Given the description of an element on the screen output the (x, y) to click on. 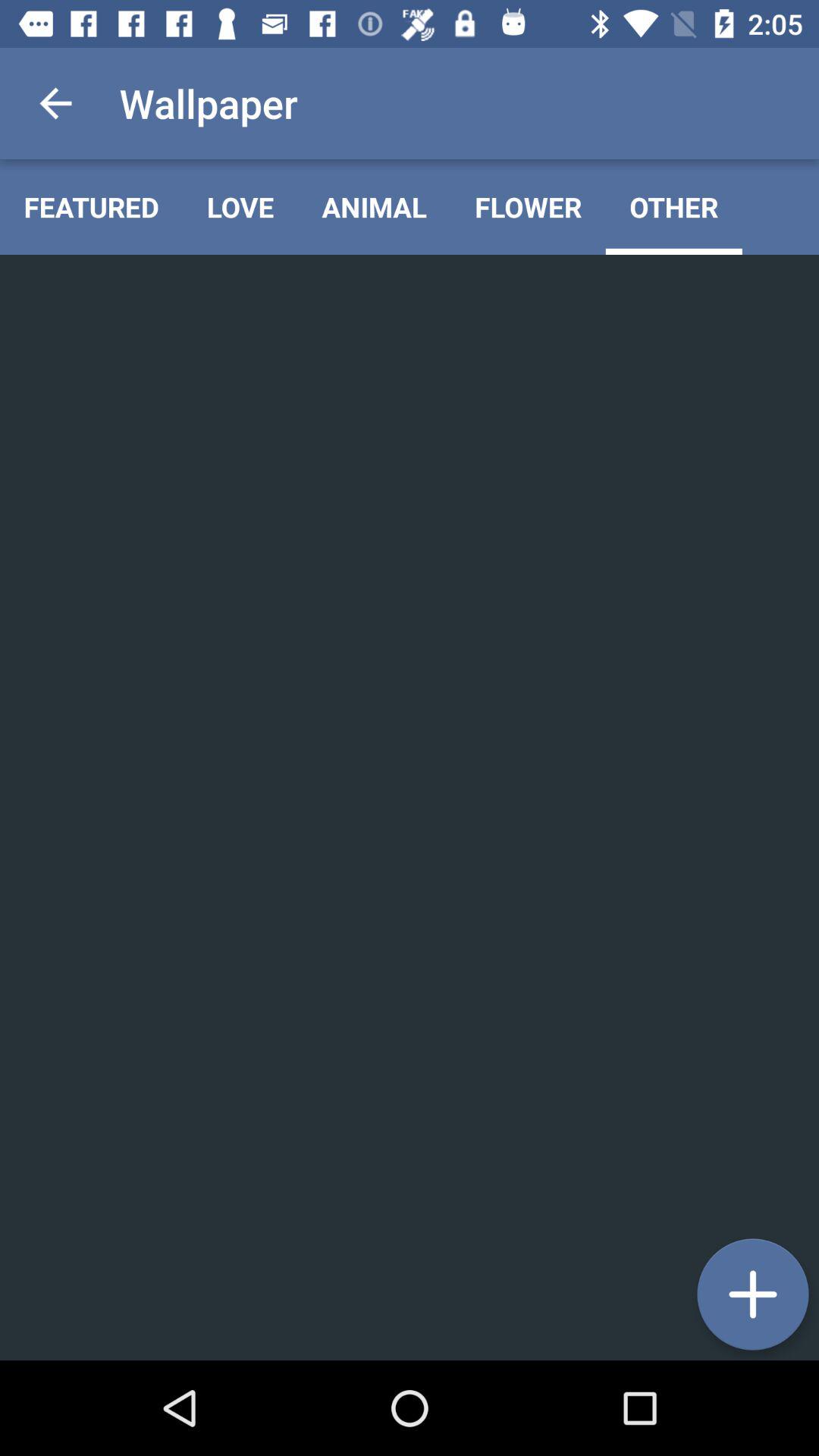
turn on the flower item (527, 206)
